Given the description of an element on the screen output the (x, y) to click on. 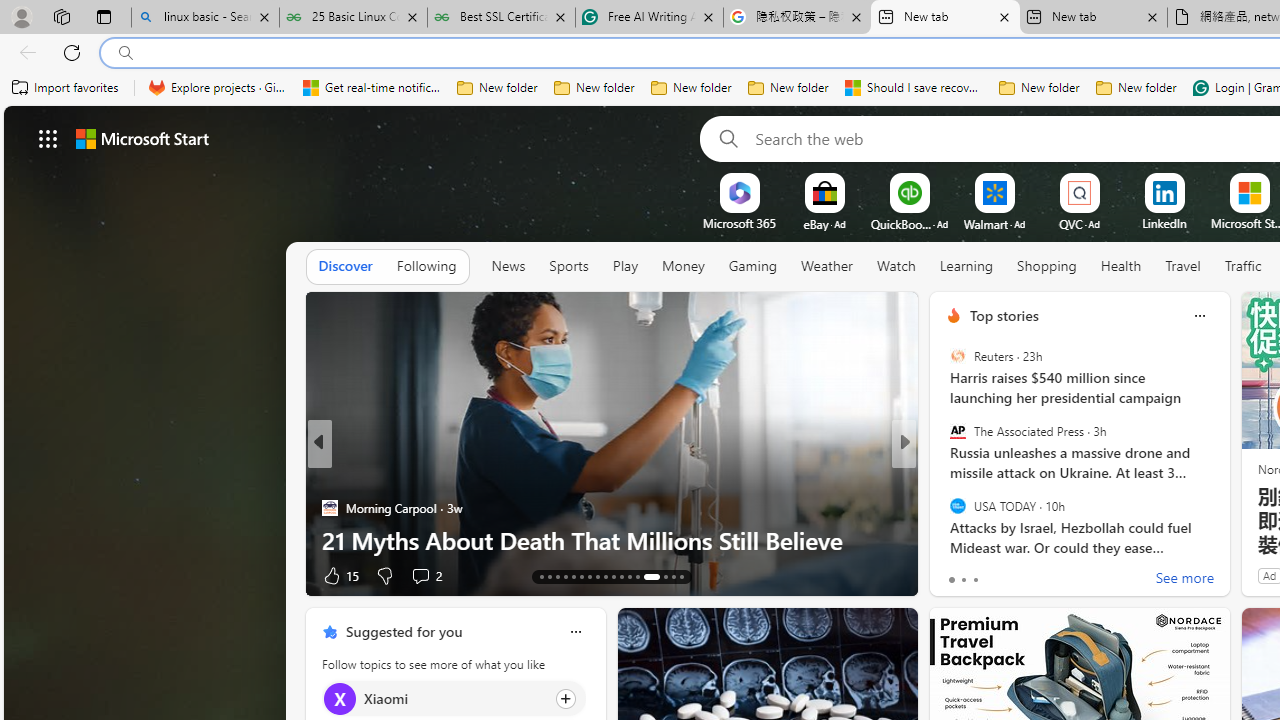
View comments 1 Comment (1036, 575)
AutomationID: tab-19 (588, 576)
Travel (1183, 267)
Newsweek (944, 475)
Shopping (1047, 265)
Money (682, 267)
Watch (896, 267)
Import favorites (65, 88)
48 Like (956, 574)
Sports (569, 267)
